Given the description of an element on the screen output the (x, y) to click on. 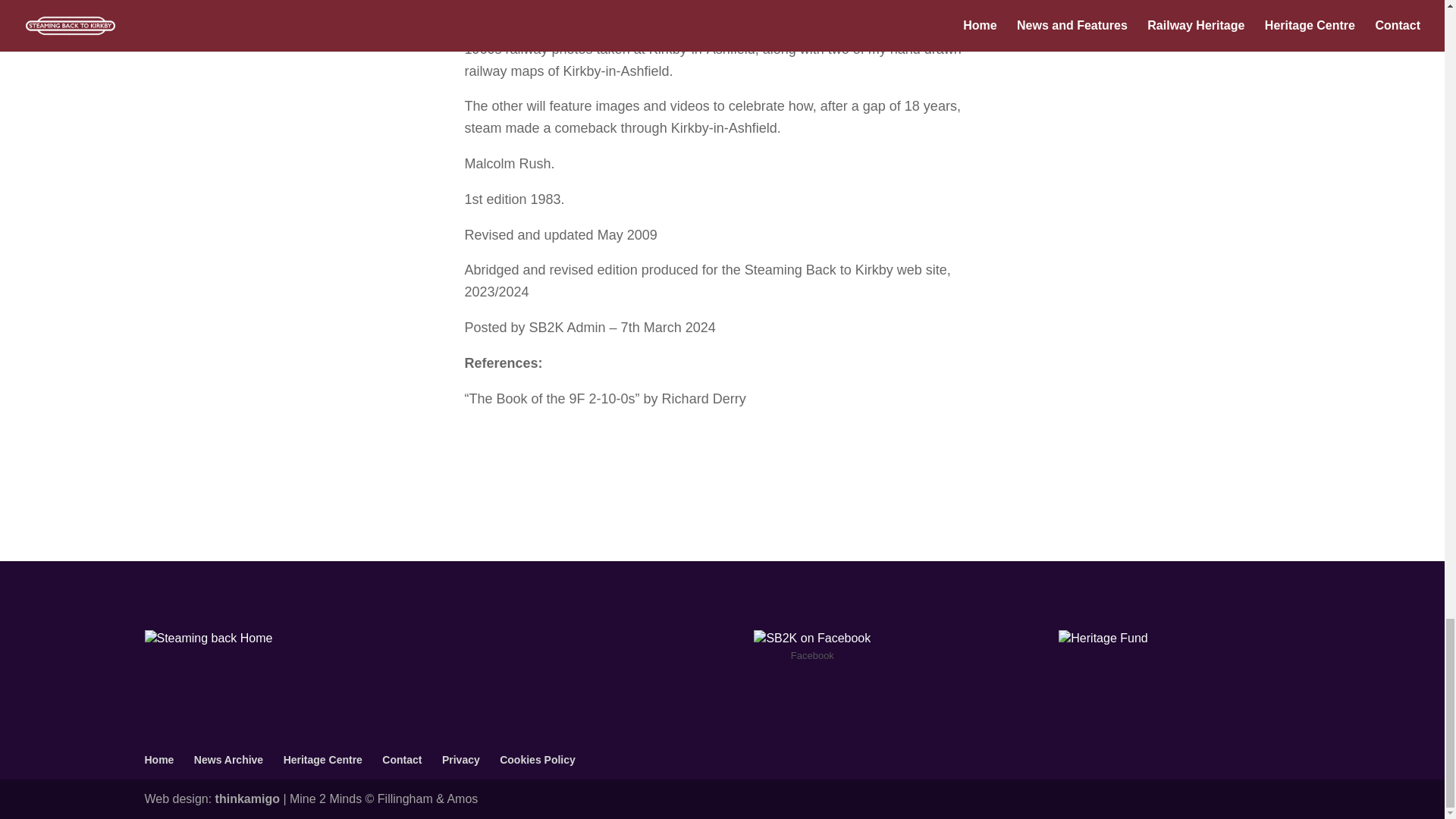
Cookies Policy (537, 759)
Privacy (461, 759)
Heritage Centre (322, 759)
thinkamigo (247, 798)
Home (158, 759)
Contact (401, 759)
News Archive (228, 759)
